Given the description of an element on the screen output the (x, y) to click on. 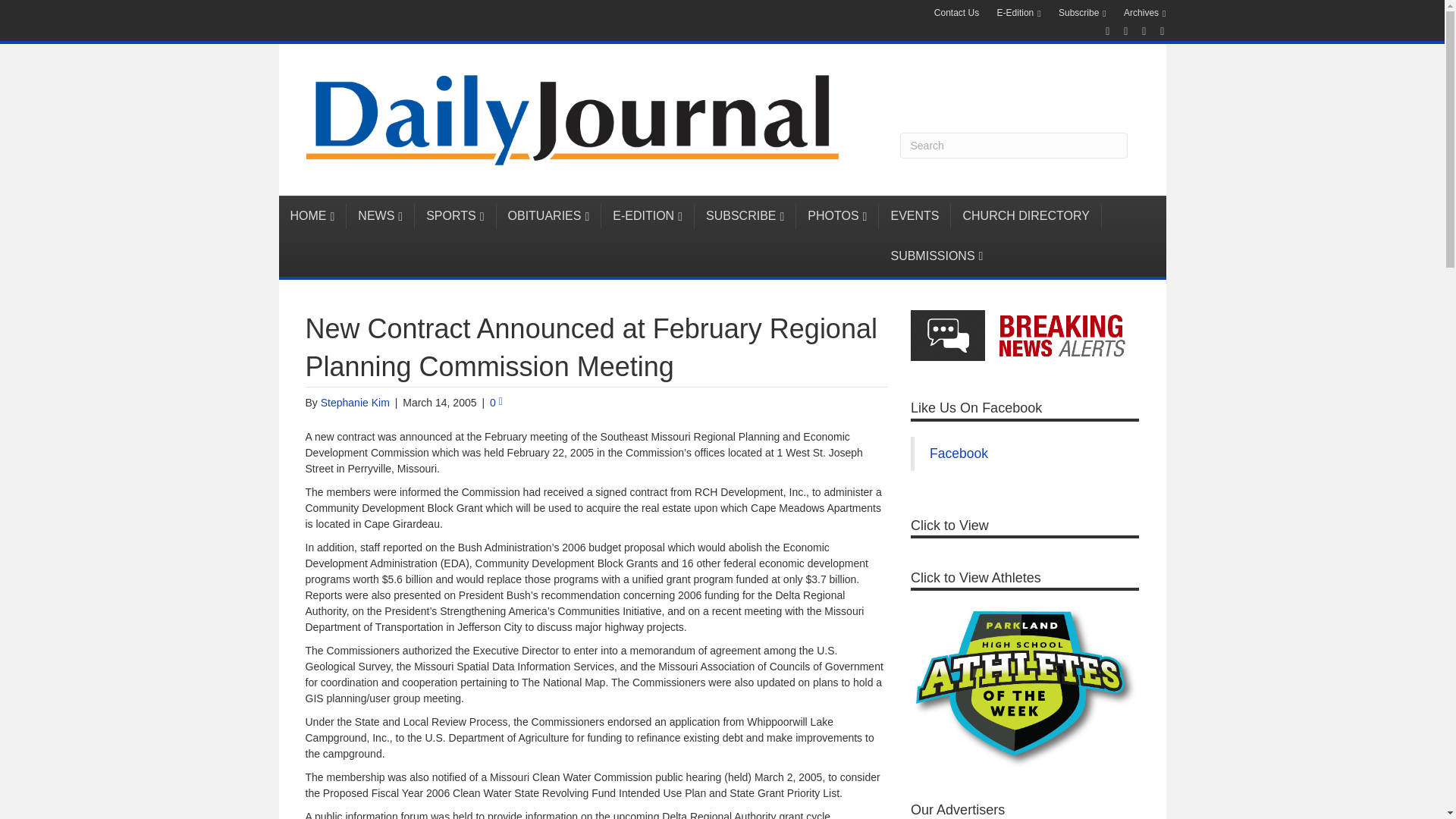
Archives (1144, 13)
Twitter (1117, 30)
Facebook (1099, 30)
Type and press Enter to search. (1012, 145)
Youtube (1135, 30)
NEWS (380, 216)
Subscribe (1082, 13)
Email (1154, 30)
Contact Us (956, 13)
E-Edition (1019, 13)
